Given the description of an element on the screen output the (x, y) to click on. 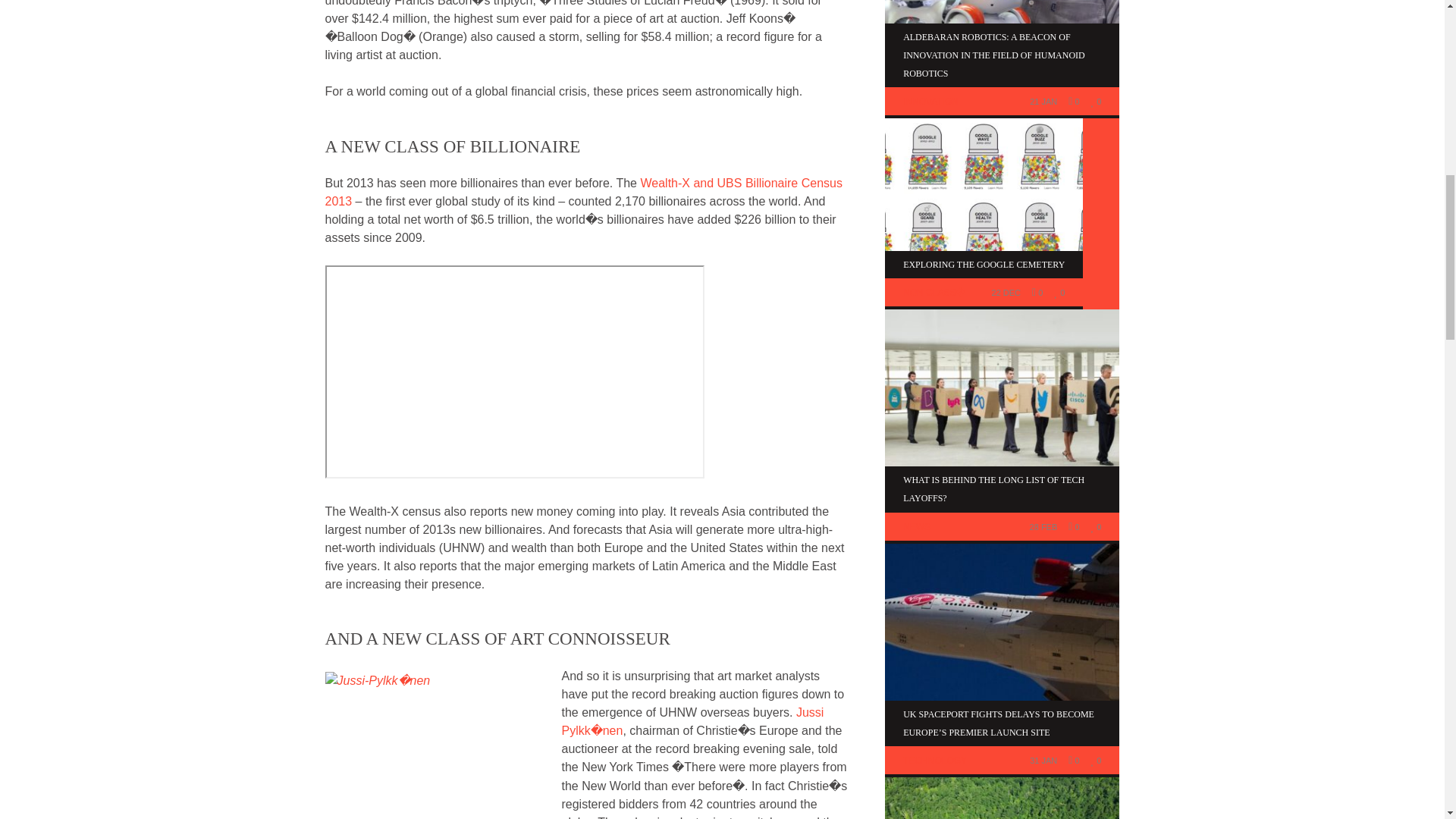
View all posts in Technology (934, 760)
Wealth-X and UBS Billionaire Census 2013 (582, 192)
View all posts in Innovation (930, 101)
View all posts in News (916, 526)
